Given the description of an element on the screen output the (x, y) to click on. 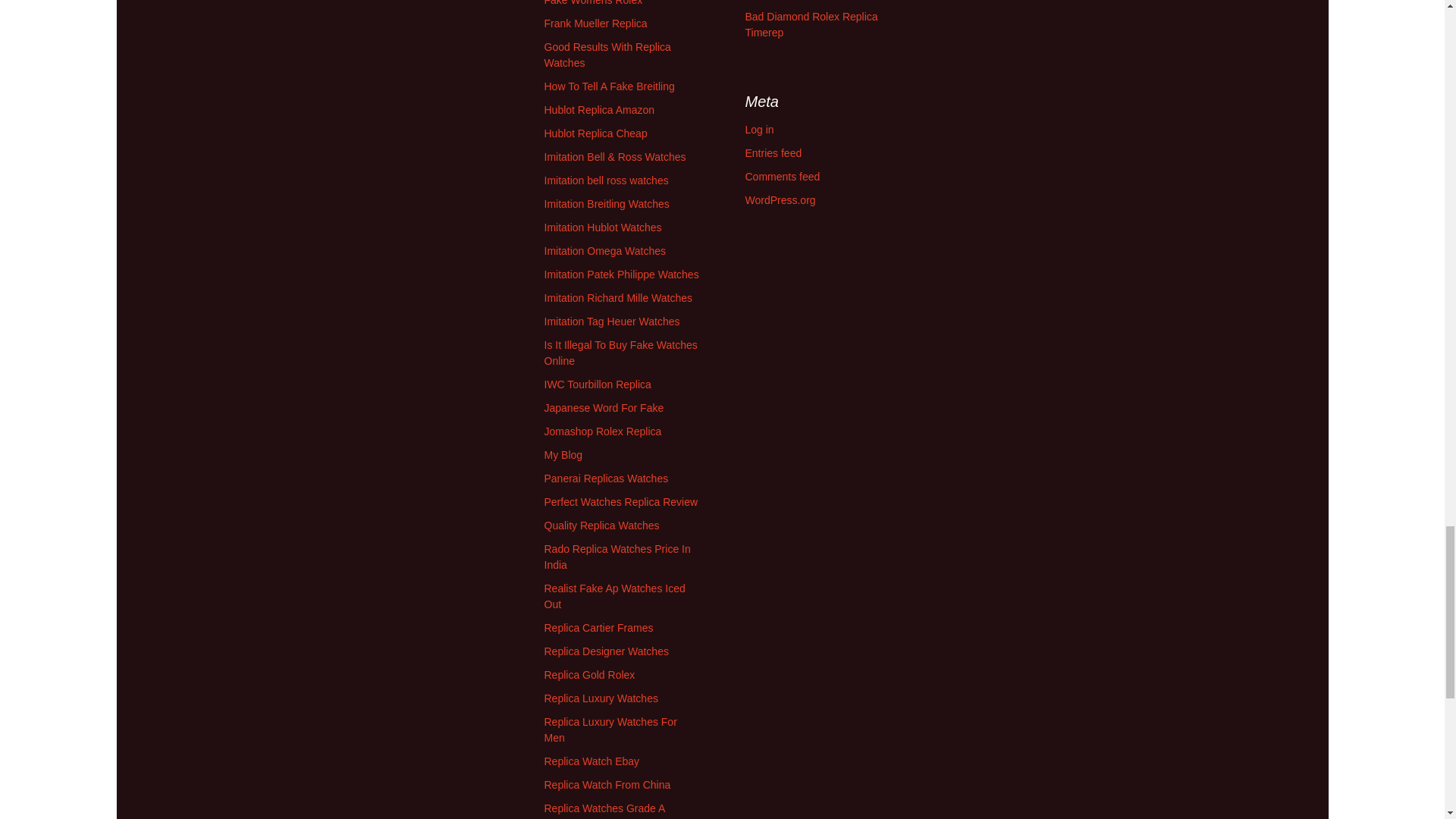
Is It Illegal To Buy Fake Watches Online (620, 352)
Imitation Omega Watches (605, 250)
Imitation Patek Philippe Watches (621, 274)
Imitation bell ross watches (606, 180)
Japanese Word For Fake (603, 408)
Good Results With Replica Watches (607, 54)
How To Tell A Fake Breitling (609, 86)
Imitation Tag Heuer Watches (611, 321)
Imitation Hublot Watches (603, 227)
Imitation Richard Mille Watches (618, 297)
